Given the description of an element on the screen output the (x, y) to click on. 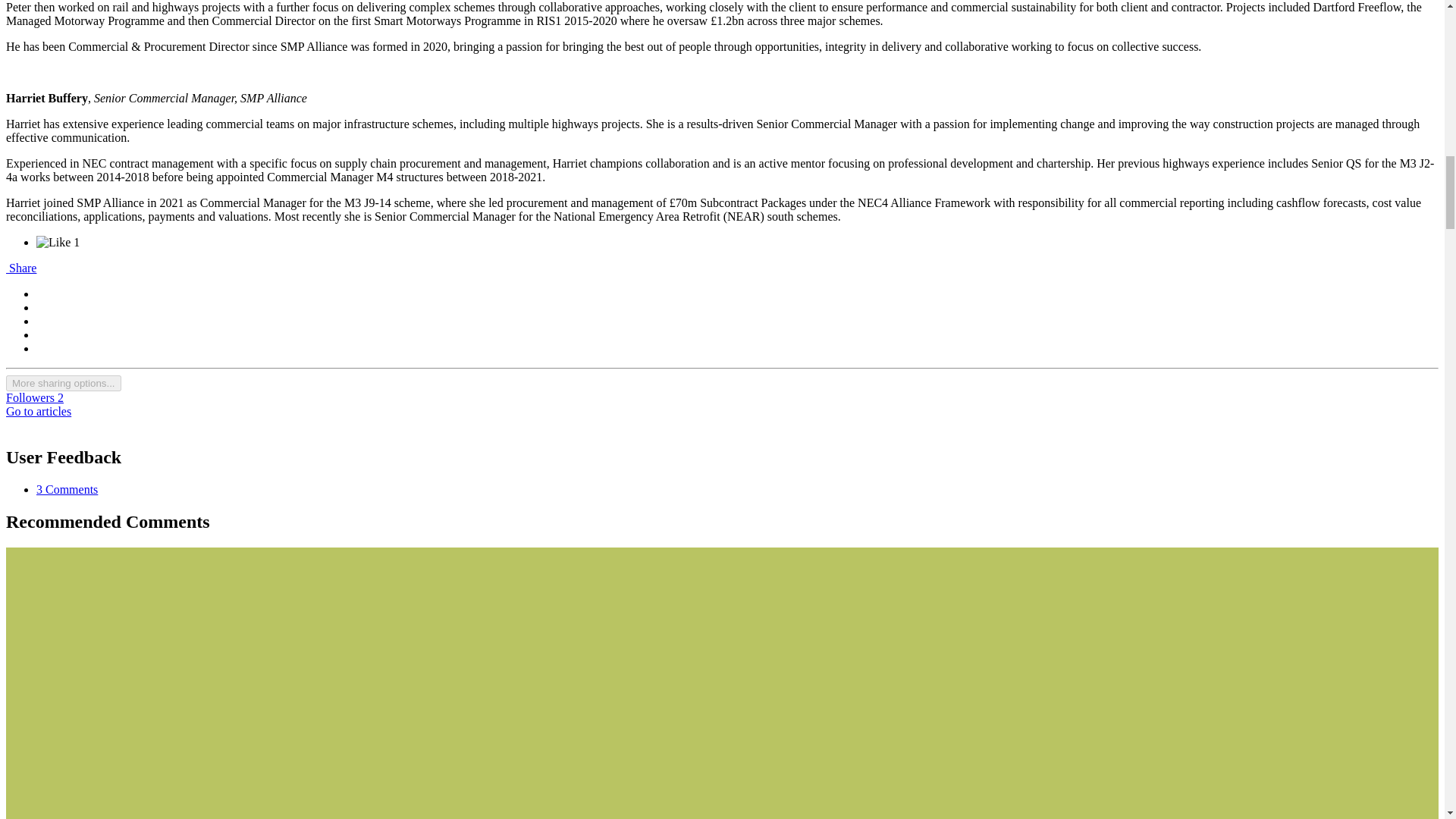
Go to News (38, 410)
Sign in to follow this (34, 397)
Like (58, 241)
3 Comments (66, 489)
